Given the description of an element on the screen output the (x, y) to click on. 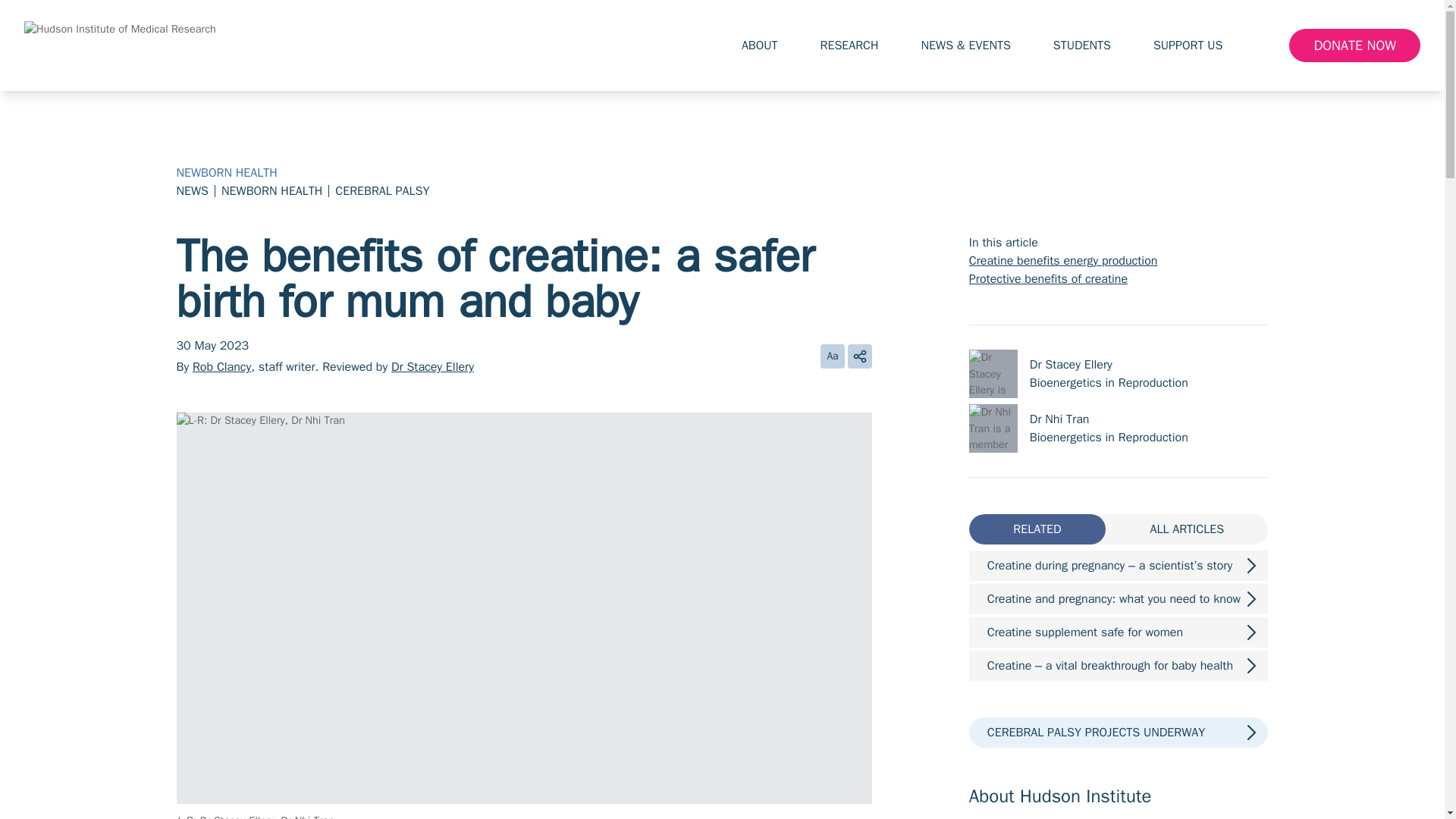
ABOUT (768, 45)
RESEARCH (858, 45)
STUDENTS (1091, 45)
